Given the description of an element on the screen output the (x, y) to click on. 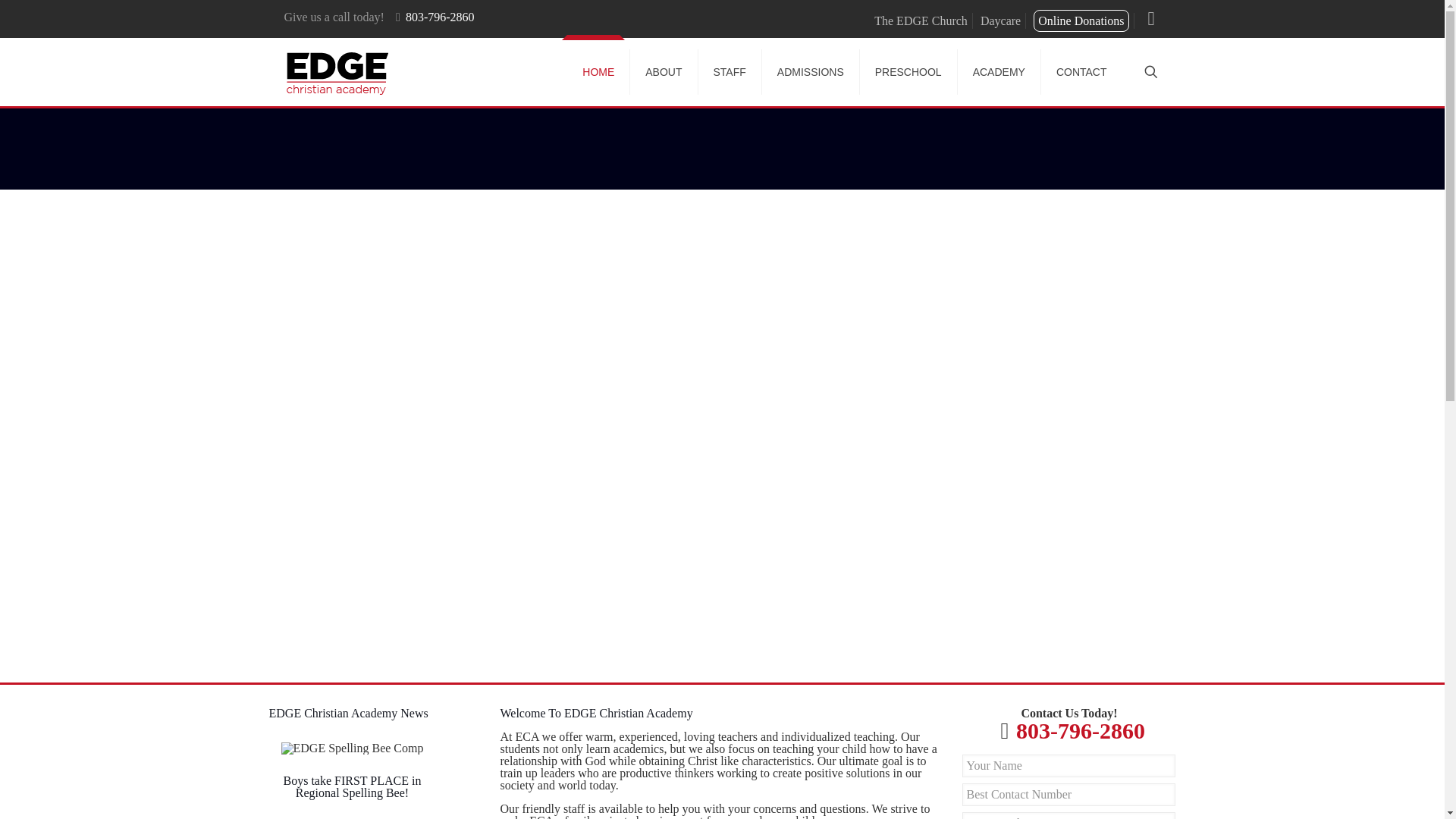
CONTACT (1081, 71)
ACADEMY (999, 71)
The EDGE Church (921, 20)
PRESCHOOL (909, 71)
Edge Christian Academy (336, 71)
Online Donations (1080, 20)
HOME (598, 71)
803-796-2860 (440, 16)
STAFF (729, 71)
803-796-2860 (1080, 730)
ABOUT (663, 71)
ADMISSIONS (810, 71)
Daycare (999, 20)
